Given the description of an element on the screen output the (x, y) to click on. 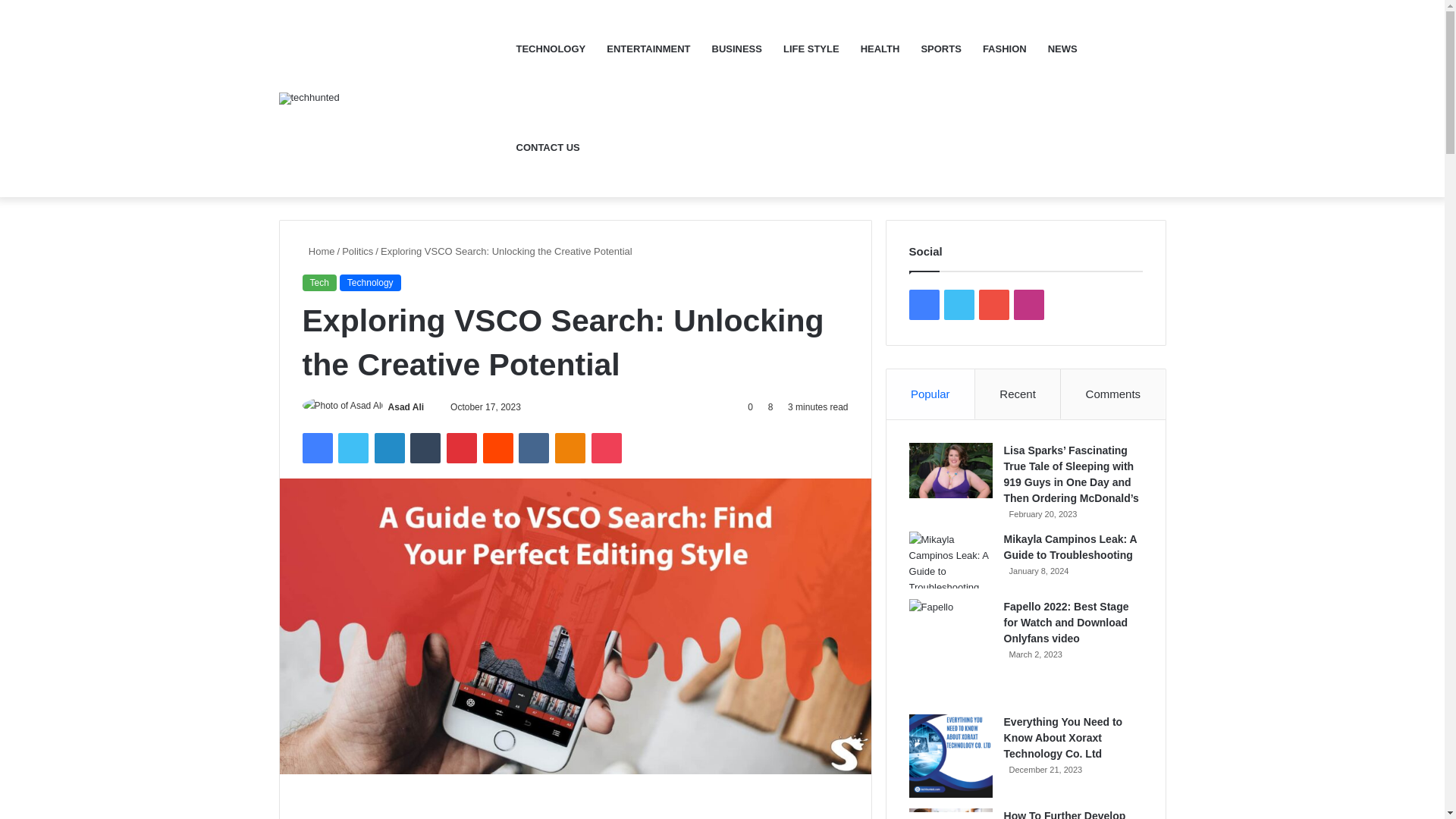
Pinterest (461, 448)
LinkedIn (389, 448)
Tech (318, 282)
Twitter (352, 448)
Facebook (316, 448)
Twitter (352, 448)
Odnoklassniki (569, 448)
Pocket (606, 448)
Odnoklassniki (569, 448)
Asad Ali (406, 407)
